Given the description of an element on the screen output the (x, y) to click on. 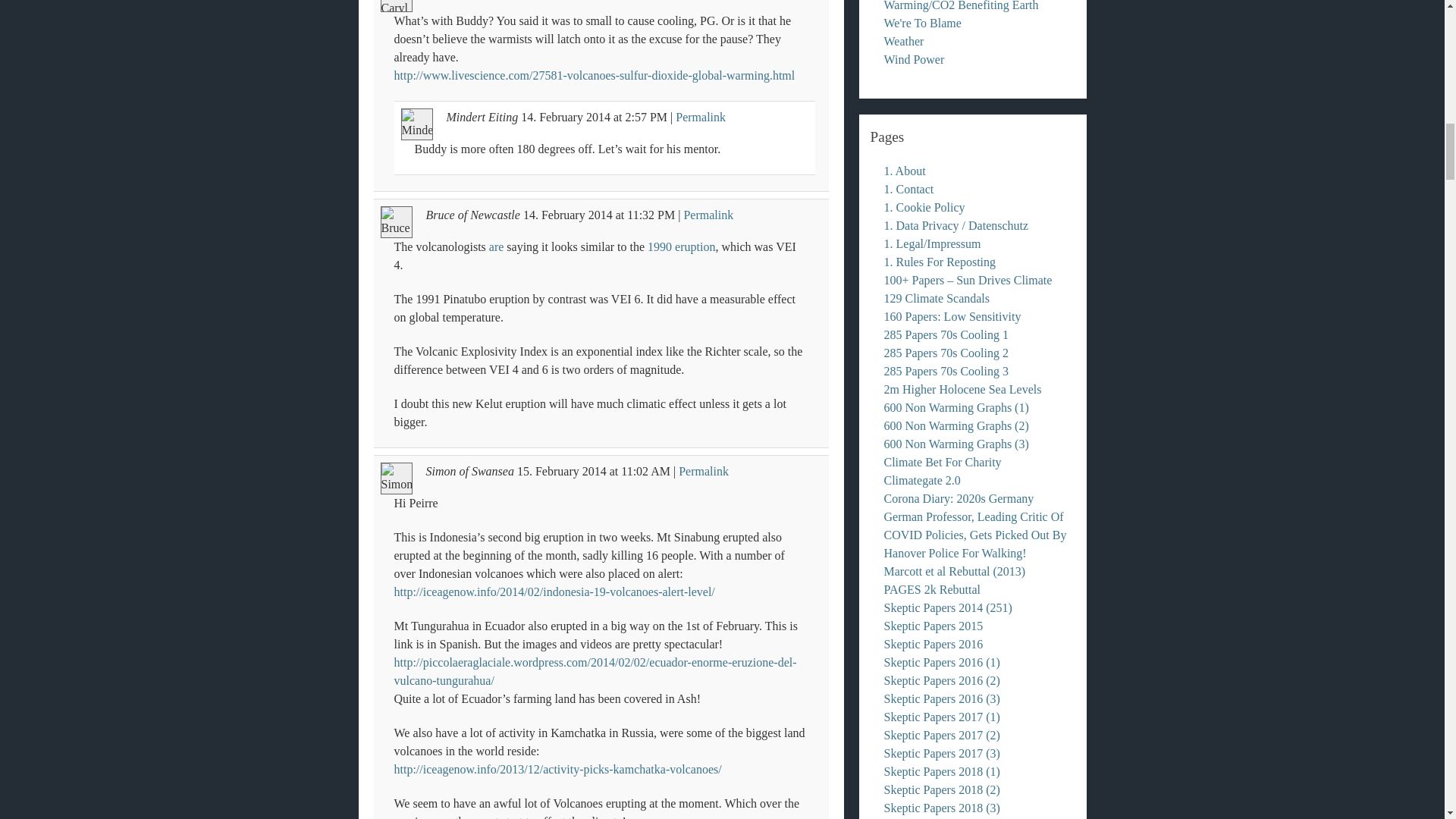
Permalink (707, 214)
are (496, 246)
Permalink (700, 116)
1990 eruption (680, 246)
Permalink (703, 471)
